Given the description of an element on the screen output the (x, y) to click on. 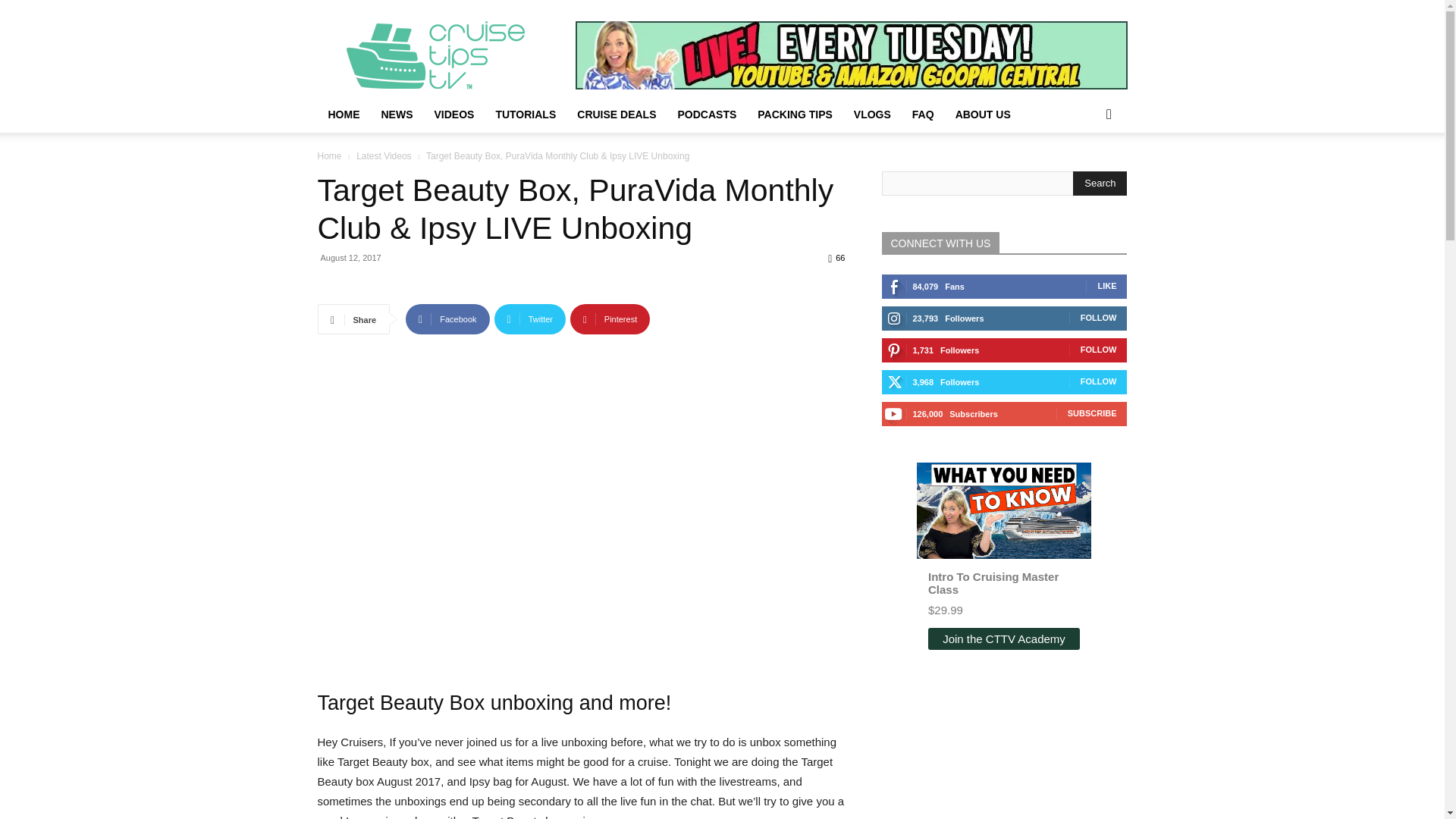
CRUISE DEALS (616, 114)
View all posts in Latest Videos (384, 155)
TUTORIALS (525, 114)
NEWS (396, 114)
PACKING TIPS (794, 114)
PODCASTS (707, 114)
HOME (343, 114)
Search (1099, 183)
VLOGS (872, 114)
